Given the description of an element on the screen output the (x, y) to click on. 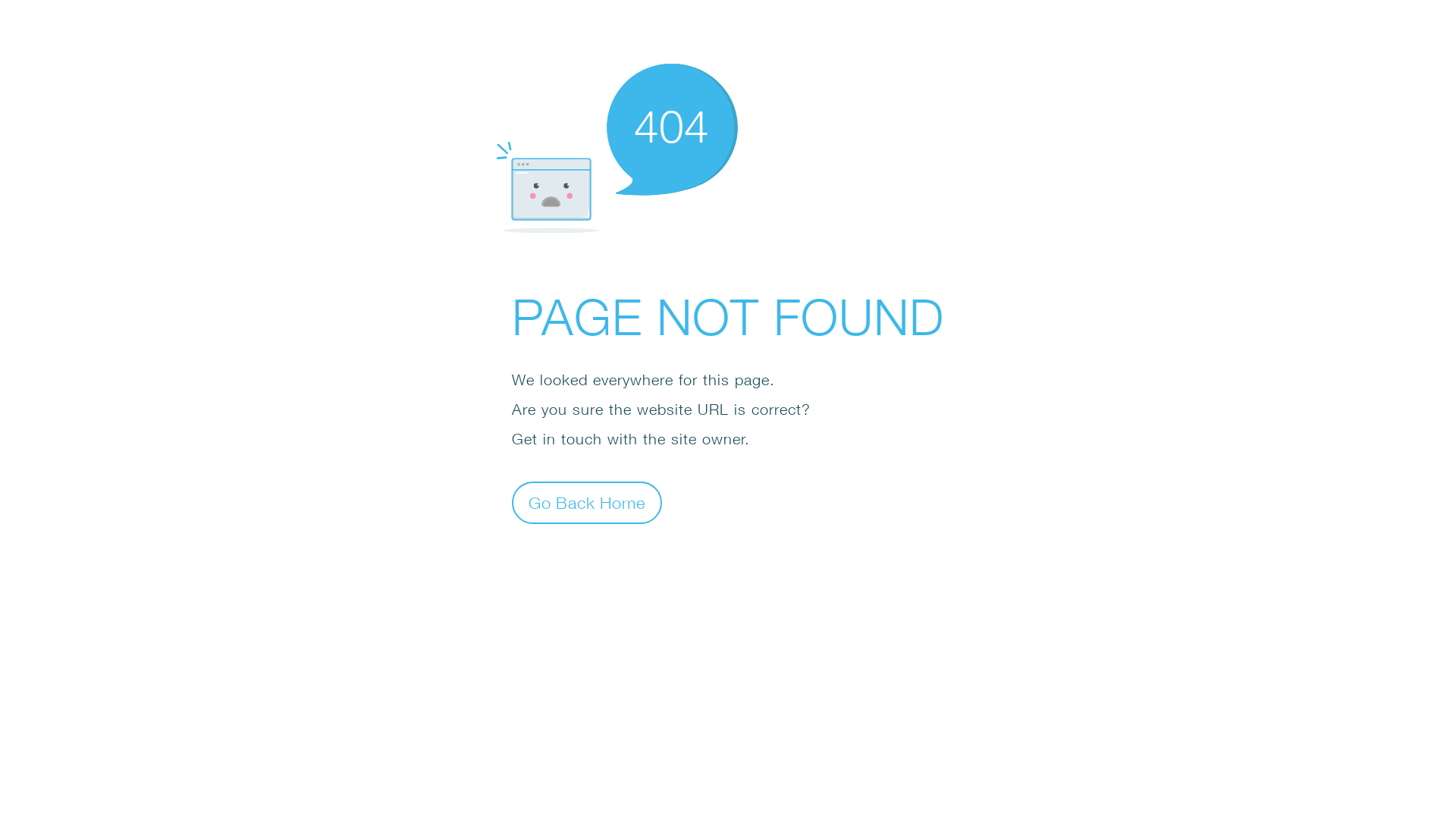
Go Back Home Element type: text (586, 502)
